Given the description of an element on the screen output the (x, y) to click on. 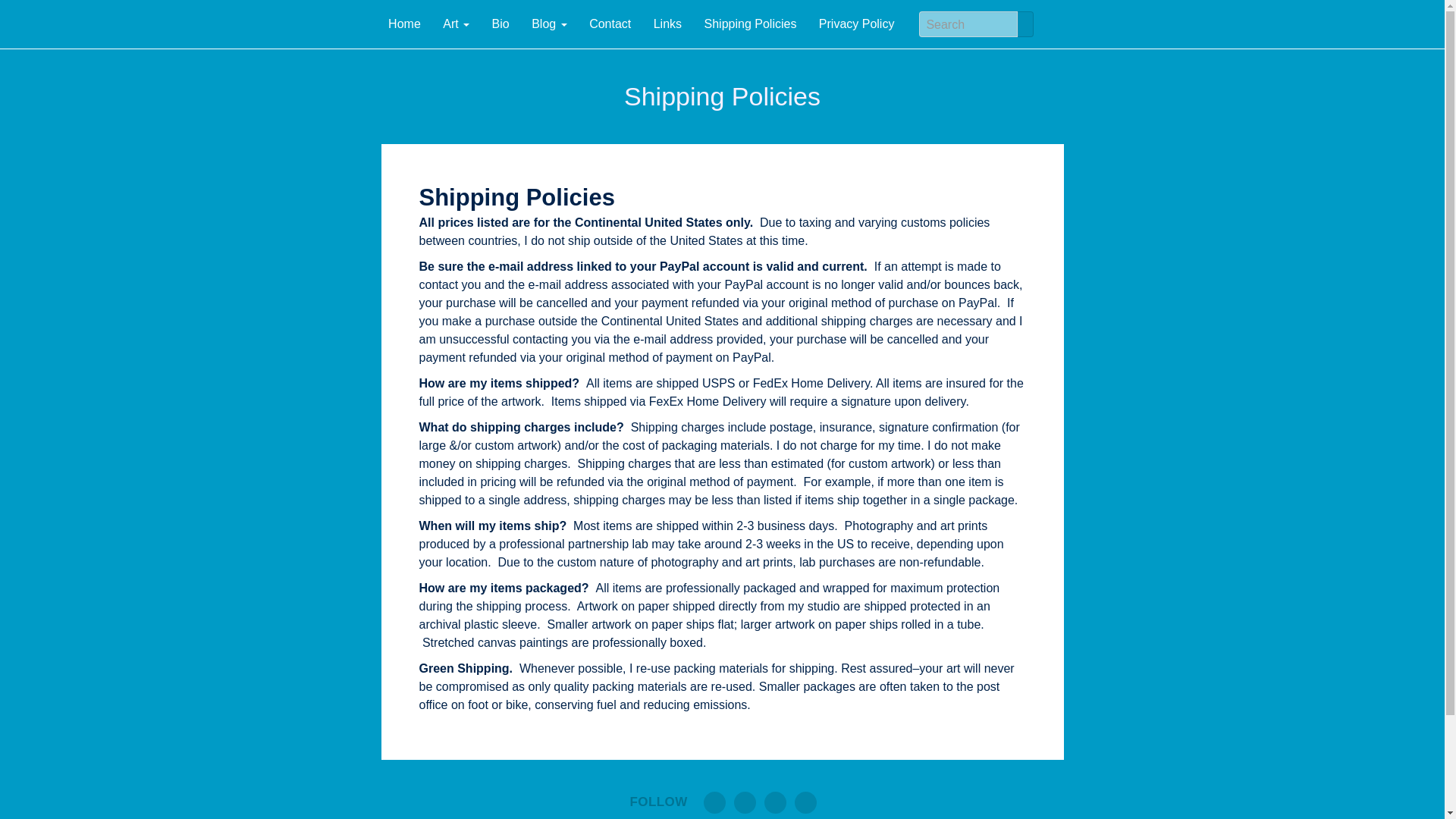
Follow on Instagram (805, 802)
Privacy Policy (856, 24)
Follow on Pinterest (775, 802)
Subscribe to RSS (714, 802)
Blog (549, 24)
Contact (609, 24)
Follow on Facebook (744, 802)
Shipping Policies (750, 24)
Links (666, 24)
Home (404, 24)
Art (456, 24)
